Given the description of an element on the screen output the (x, y) to click on. 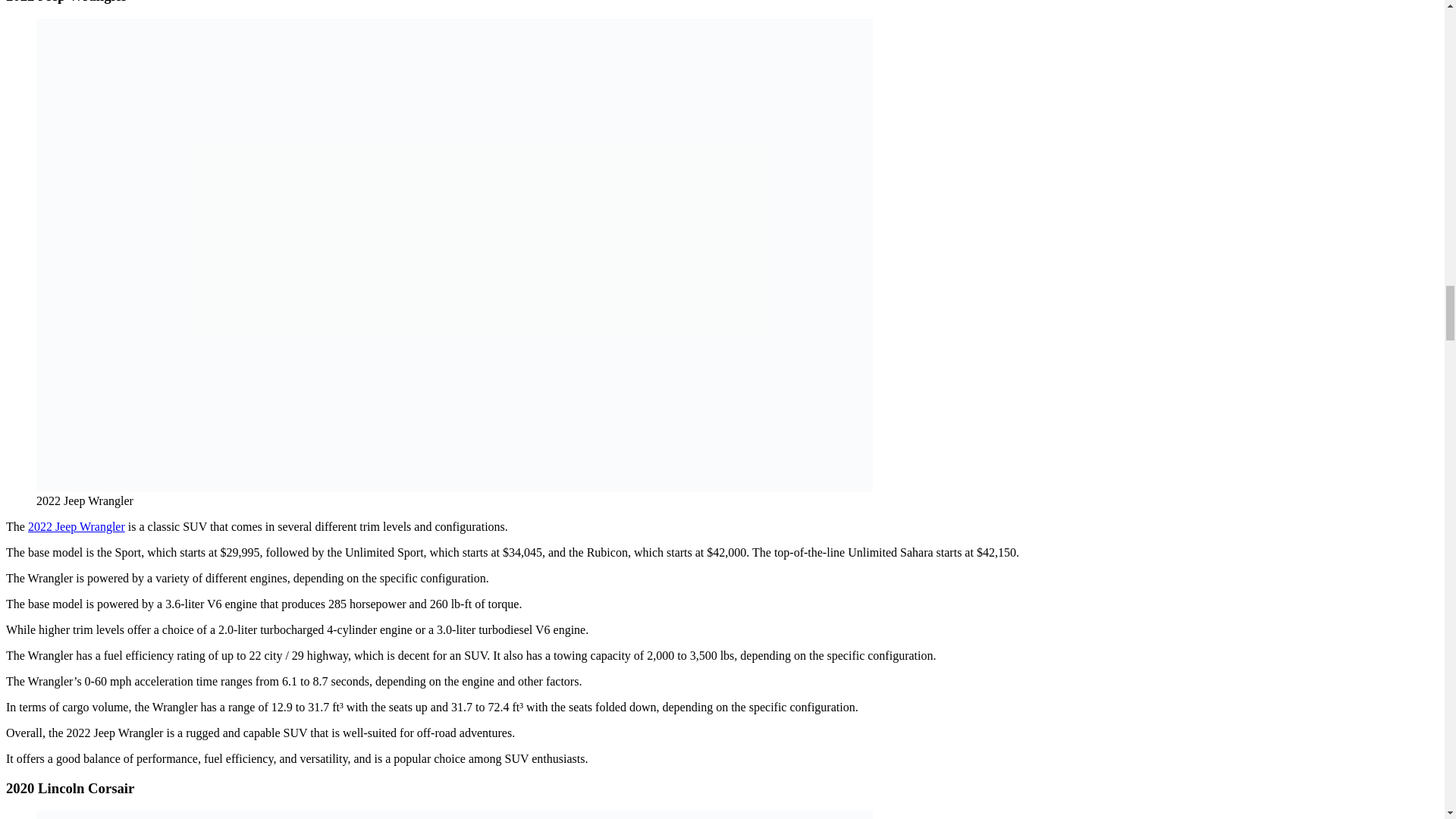
2022 Jeep Wrangler (76, 526)
